Given the description of an element on the screen output the (x, y) to click on. 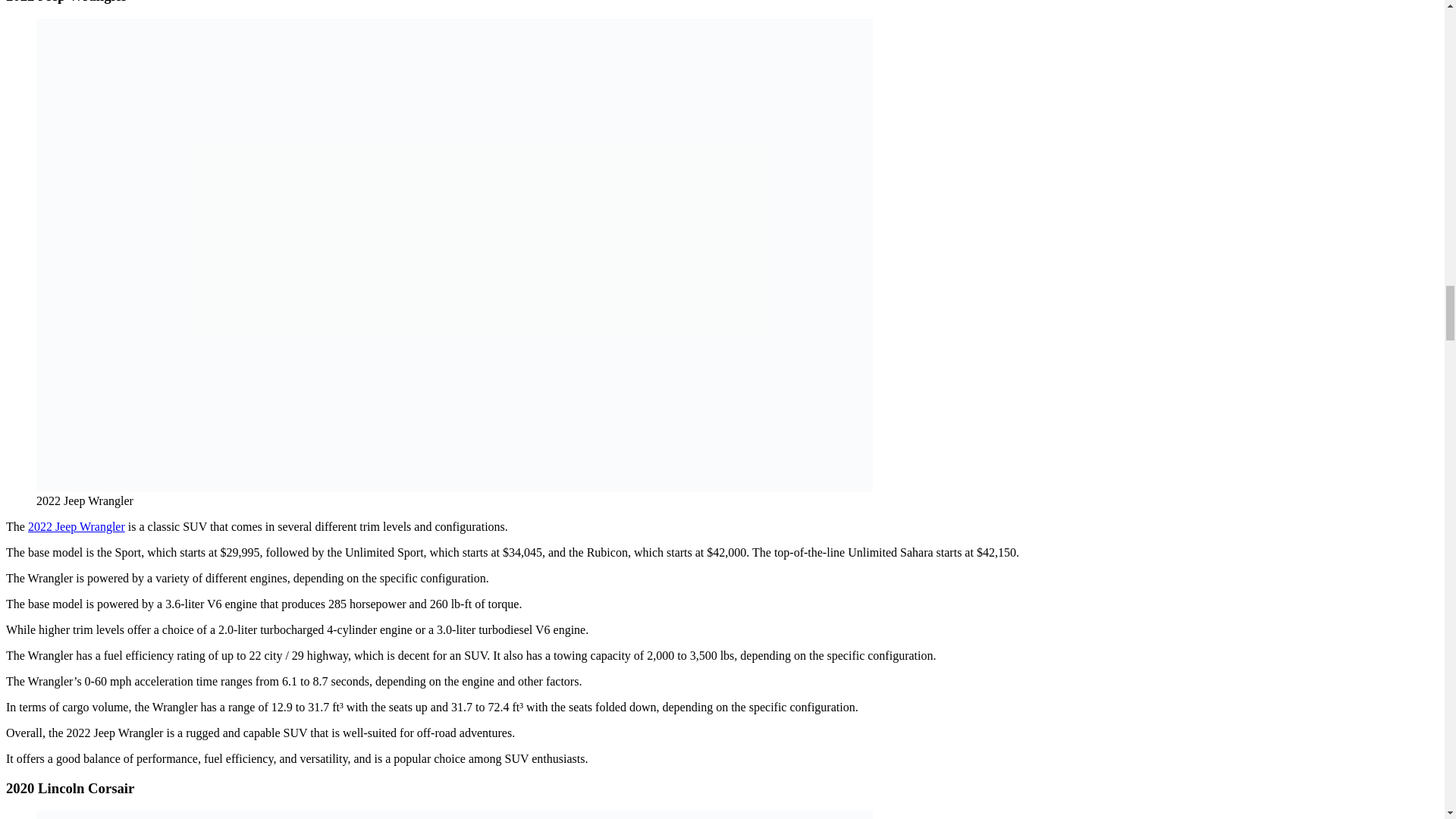
2022 Jeep Wrangler (76, 526)
